Given the description of an element on the screen output the (x, y) to click on. 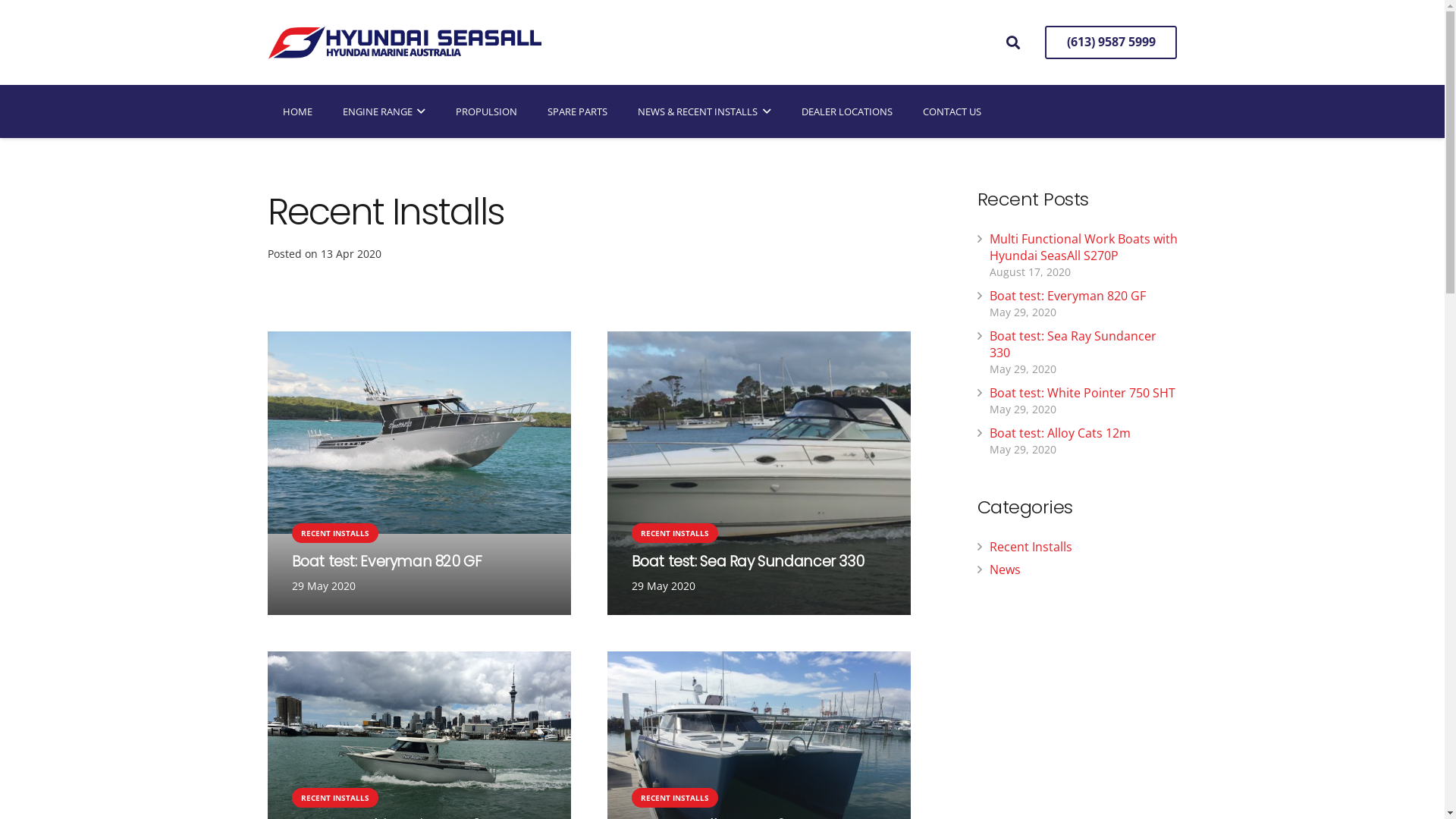
Boat test: Everyman 820 GF Element type: text (386, 561)
RECENT INSTALLS Element type: text (334, 532)
RECENT INSTALLS Element type: text (334, 797)
Multi Functional Work Boats with Hyundai SeasAll S270P Element type: text (1082, 246)
Boat test: Sea Ray Sundancer 330 Element type: text (1071, 343)
RECENT INSTALLS Element type: text (673, 797)
(613) 9587 5999 Element type: text (1110, 42)
News Element type: text (1003, 569)
SPARE PARTS Element type: text (577, 111)
CONTACT US Element type: text (951, 111)
Boat test: White Pointer 750 SHT Element type: text (1081, 392)
Boat test: Alloy Cats 12m Element type: text (1058, 432)
Recent Installs Element type: text (1029, 546)
DEALER LOCATIONS Element type: text (846, 111)
Boat test: Everyman 820 GF Element type: text (1066, 295)
Boat test: Sea Ray Sundancer 330 Element type: text (746, 561)
NEWS & RECENT INSTALLS Element type: text (704, 111)
ENGINE RANGE Element type: text (384, 111)
PROPULSION Element type: text (486, 111)
HOME Element type: text (296, 111)
RECENT INSTALLS Element type: text (673, 532)
